Given the description of an element on the screen output the (x, y) to click on. 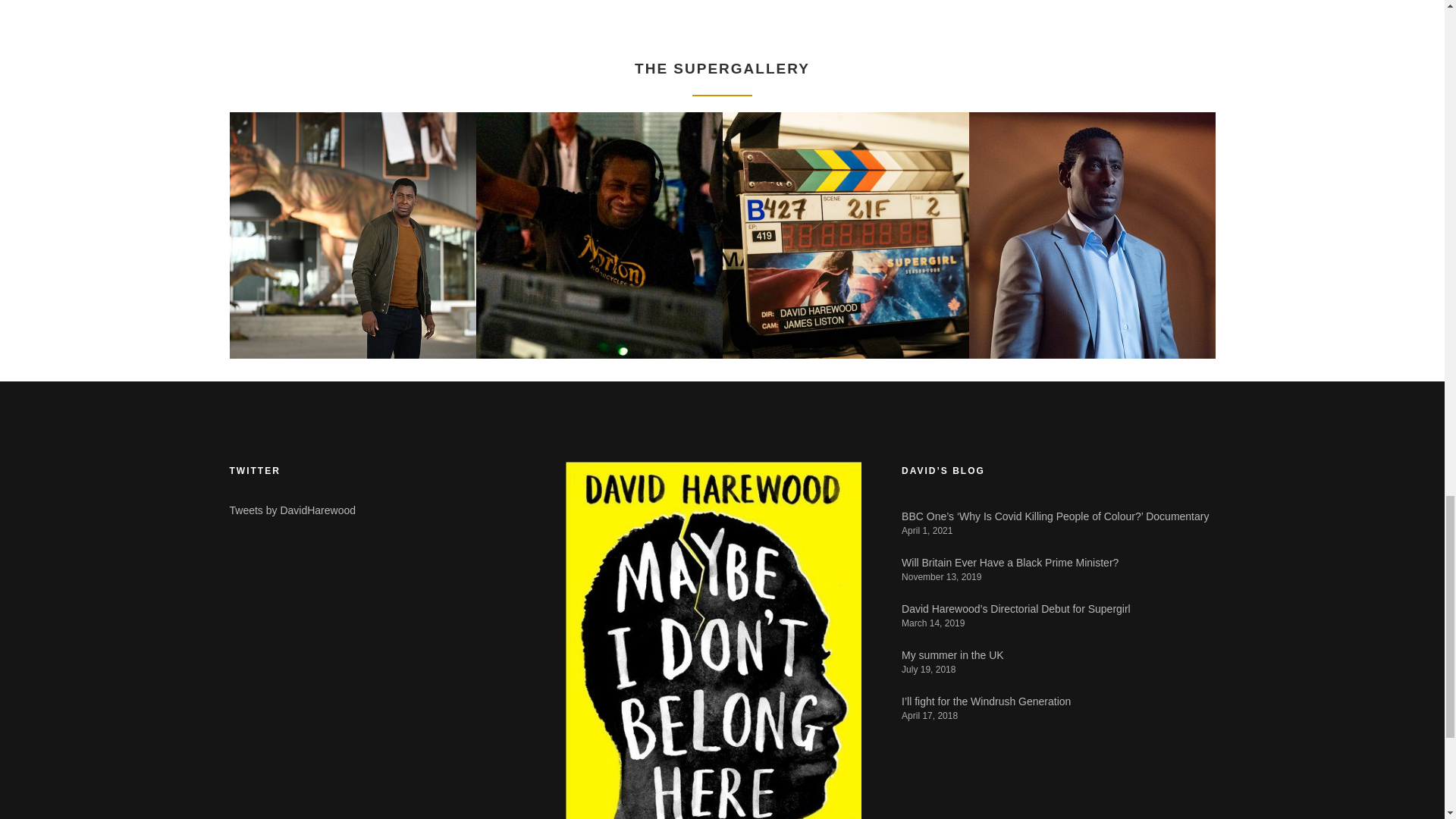
'Supergirl' star is happy to direct - and to have pants. (1057, 18)
Tweets by DavidHarewood (291, 510)
